Given the description of an element on the screen output the (x, y) to click on. 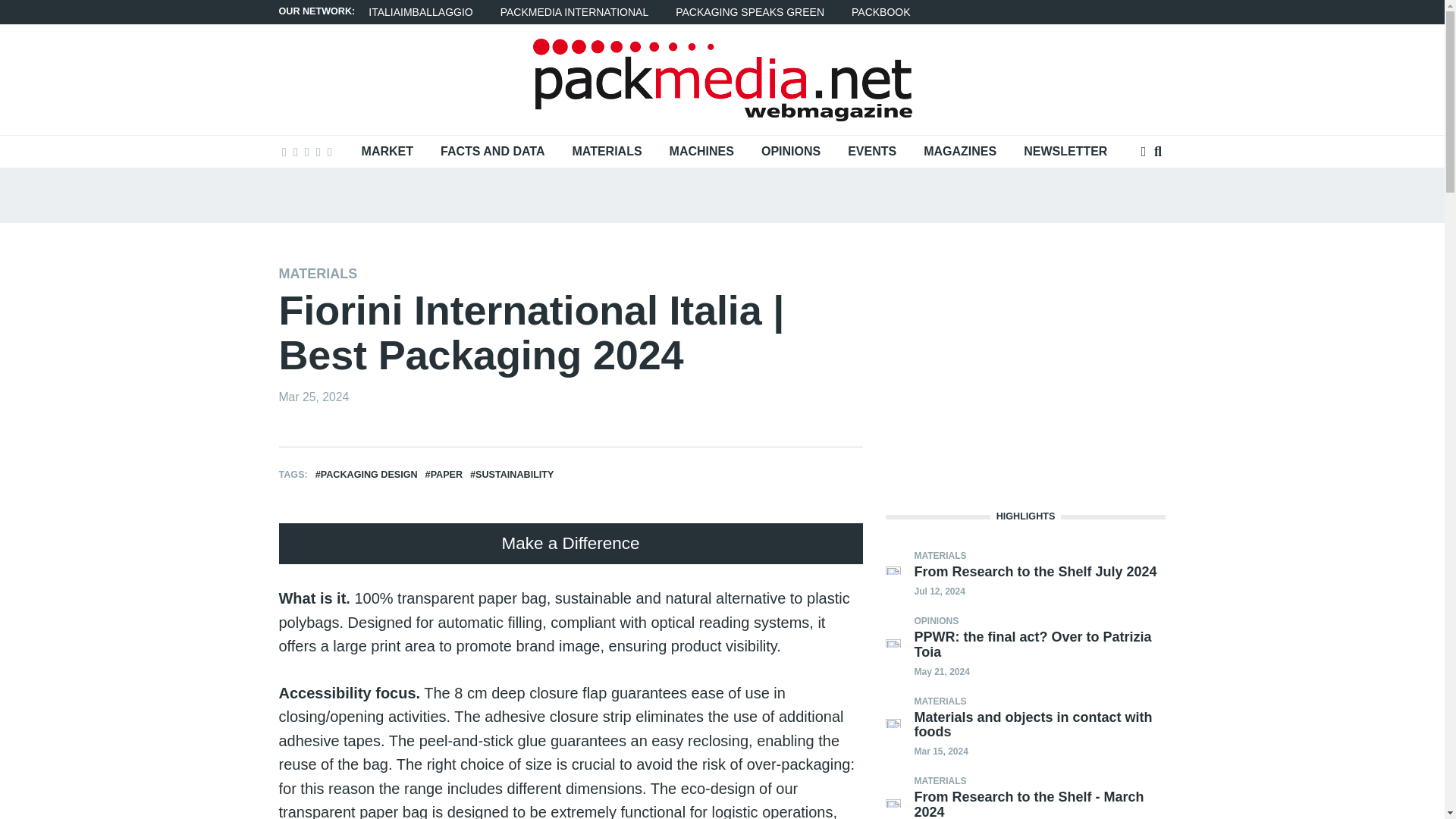
OPINIONS (791, 151)
MACHINES (702, 151)
EVENTS (872, 151)
PACKAGING SPEAKS GREEN (750, 12)
ITALIAIMBALLAGGIO (420, 12)
SUSTAINABILITY (514, 474)
PAPER (446, 474)
MAGAZINES (960, 151)
MARKET (386, 151)
MATERIALS (318, 273)
